Given the description of an element on the screen output the (x, y) to click on. 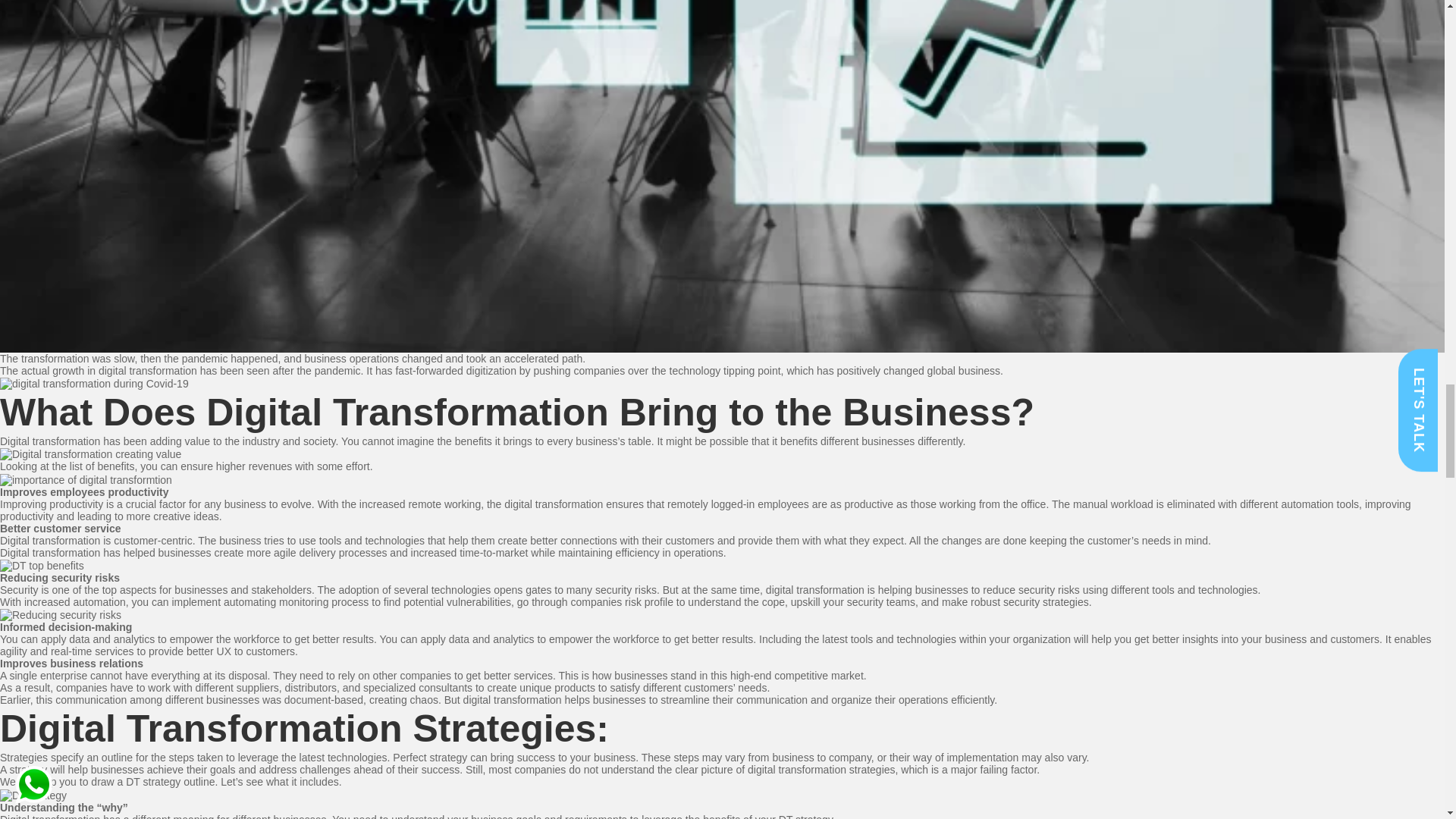
What Does Digital Transformation Bring to the Business? (516, 412)
Digital Transformation Strategies: (304, 728)
